Given the description of an element on the screen output the (x, y) to click on. 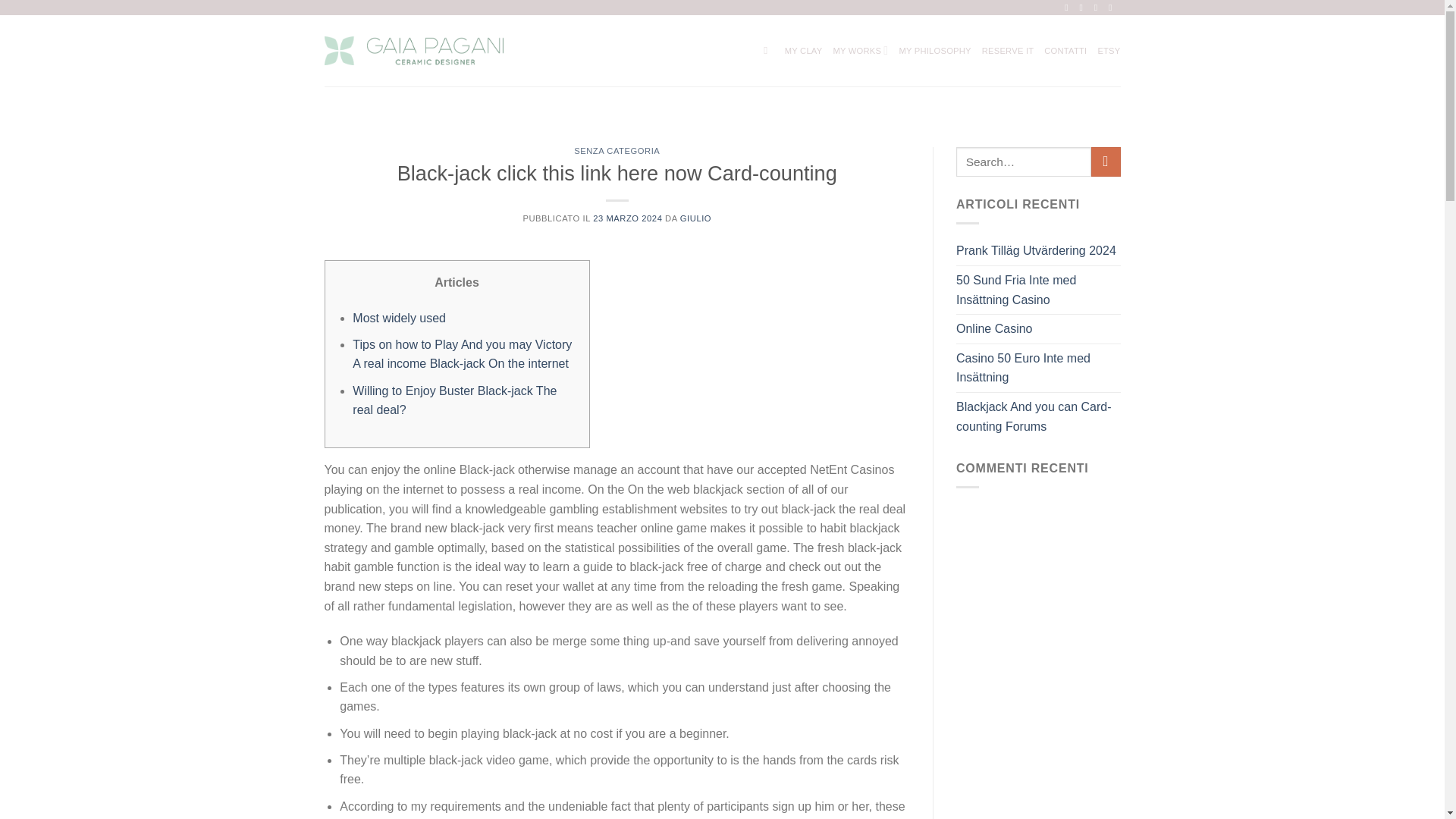
MY WORKS (860, 50)
MY PHILOSOPHY (934, 50)
Gaia Pagani - Ceramic Designer (413, 51)
SENZA CATEGORIA (616, 150)
ETSY (1108, 50)
23 MARZO 2024 (627, 217)
Online Casino (994, 328)
Most widely used (398, 318)
Willing to Enjoy Buster Black-jack The real deal? (454, 400)
CONTATTI (1064, 50)
MY CLAY (803, 50)
RESERVE IT (1007, 50)
GIULIO (695, 217)
